Given the description of an element on the screen output the (x, y) to click on. 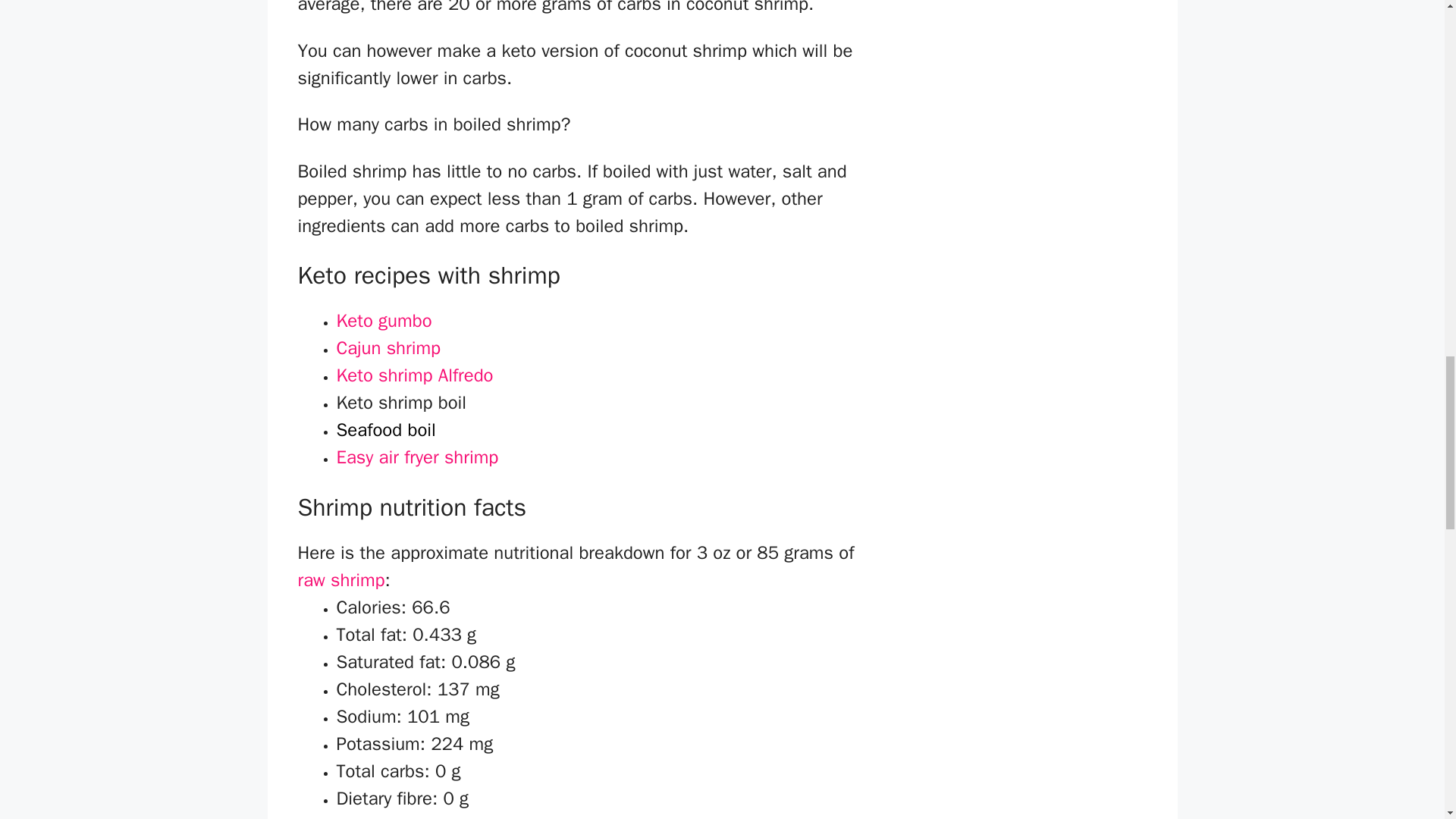
Easy air fryer shrimp (417, 458)
raw shrimp (340, 579)
Cajun shrimp (388, 349)
Keto shrimp Alfredo (414, 376)
Keto gumbo (384, 322)
Seafood boil (385, 431)
